Given the description of an element on the screen output the (x, y) to click on. 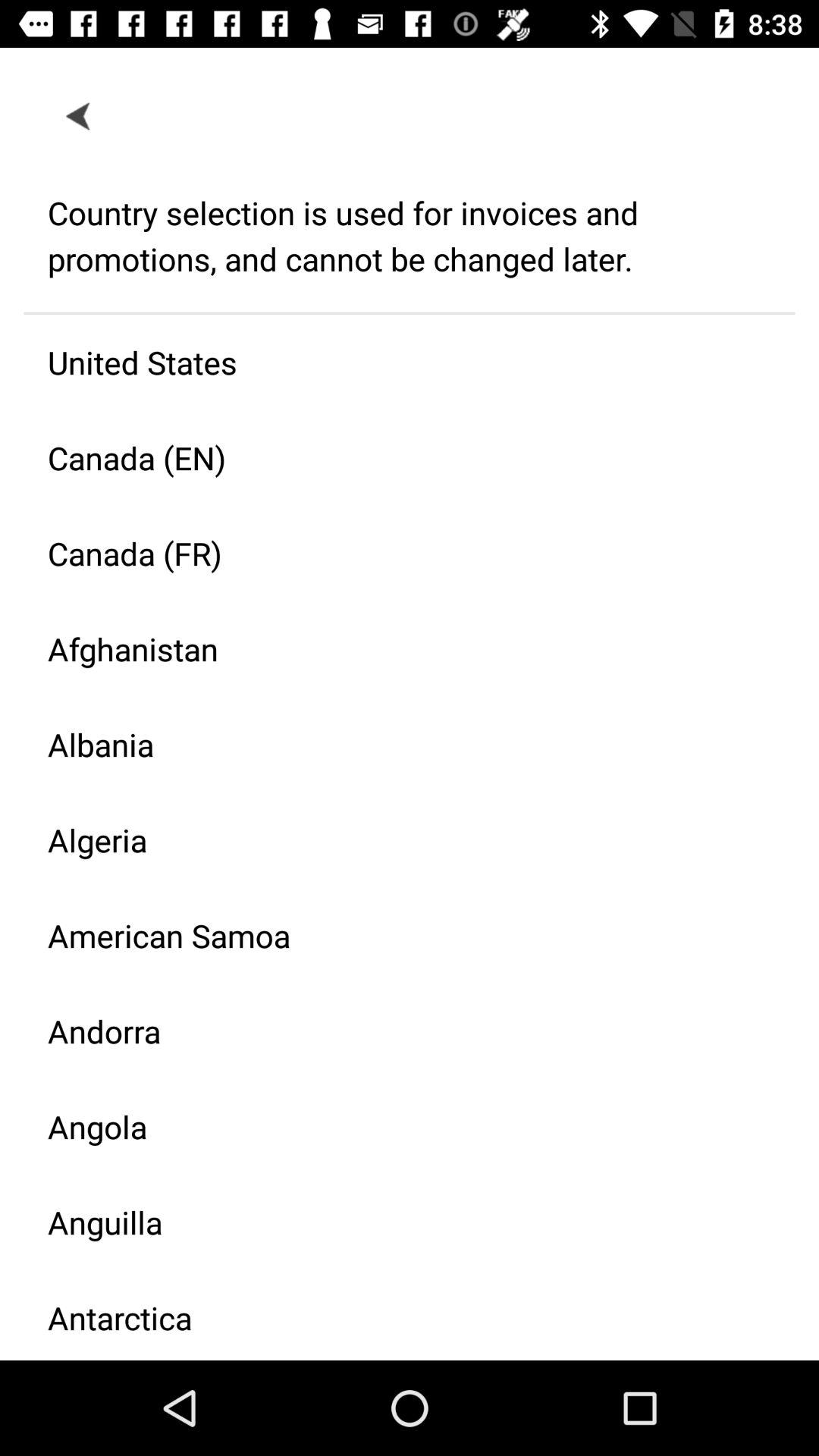
press item above afghanistan icon (397, 553)
